Given the description of an element on the screen output the (x, y) to click on. 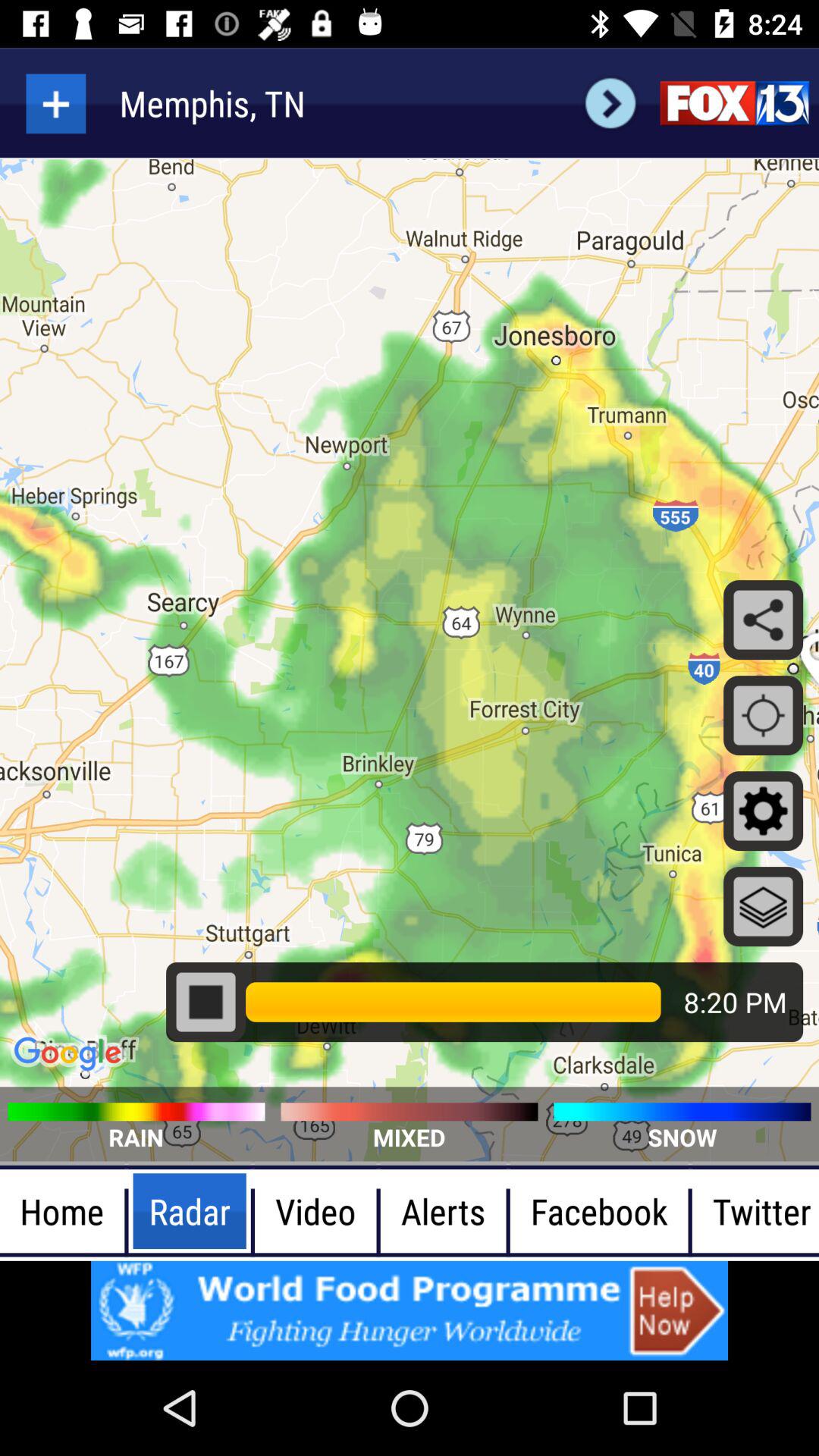
add city (55, 103)
